Given the description of an element on the screen output the (x, y) to click on. 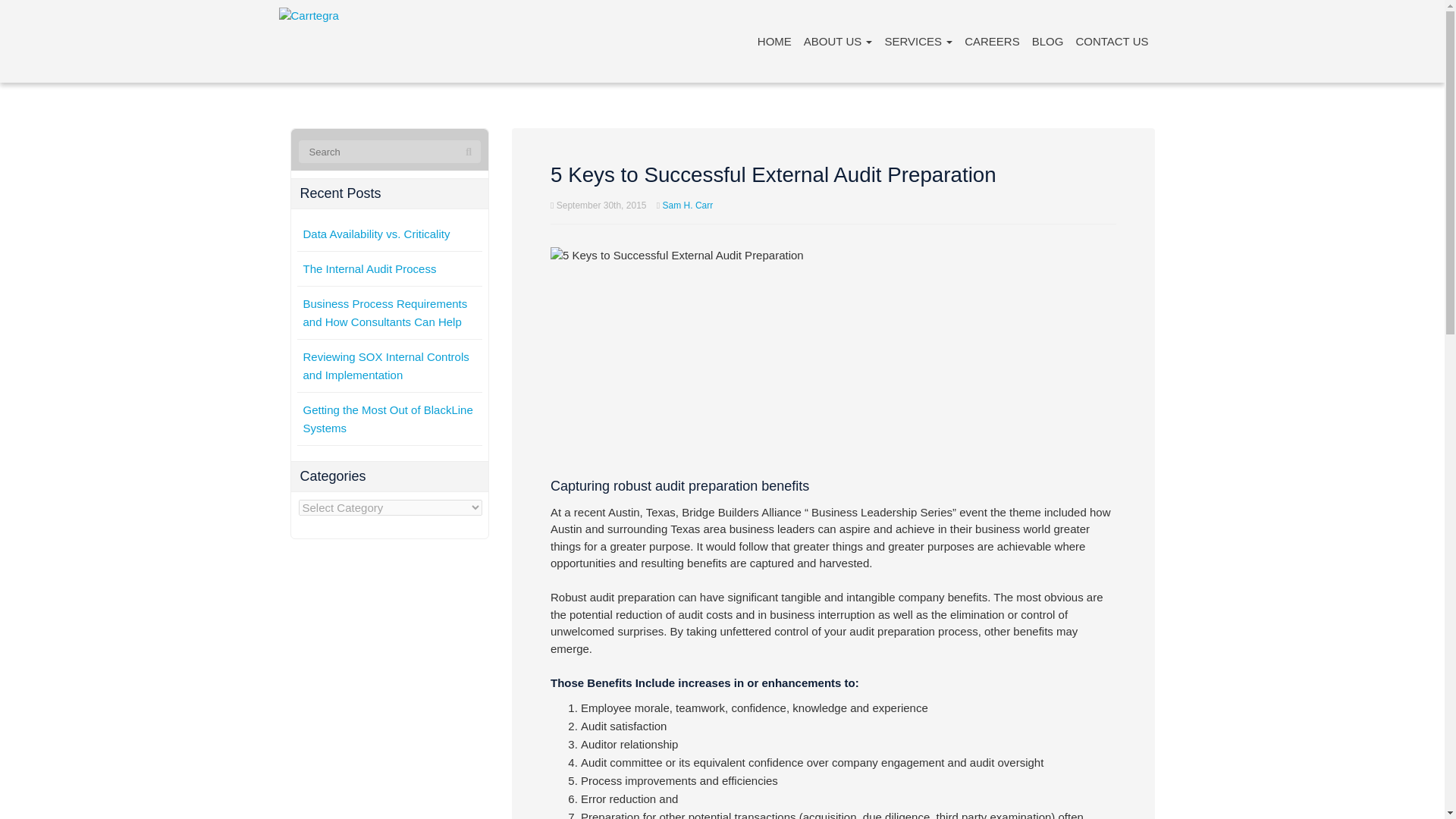
BLOG (1048, 41)
Reviewing SOX Internal Controls and Implementation (385, 365)
Getting the Most Out of BlackLine Systems (387, 418)
CONTACT US (1111, 41)
Sam H. Carr (687, 204)
HOME (774, 41)
ABOUT US (838, 41)
SERVICES (917, 41)
Business Process Requirements and How Consultants Can Help (384, 312)
Search (468, 152)
The Internal Audit Process (369, 268)
Posts by Sam H. Carr (687, 204)
CAREERS (992, 41)
Data Availability vs. Criticality (375, 233)
